Given the description of an element on the screen output the (x, y) to click on. 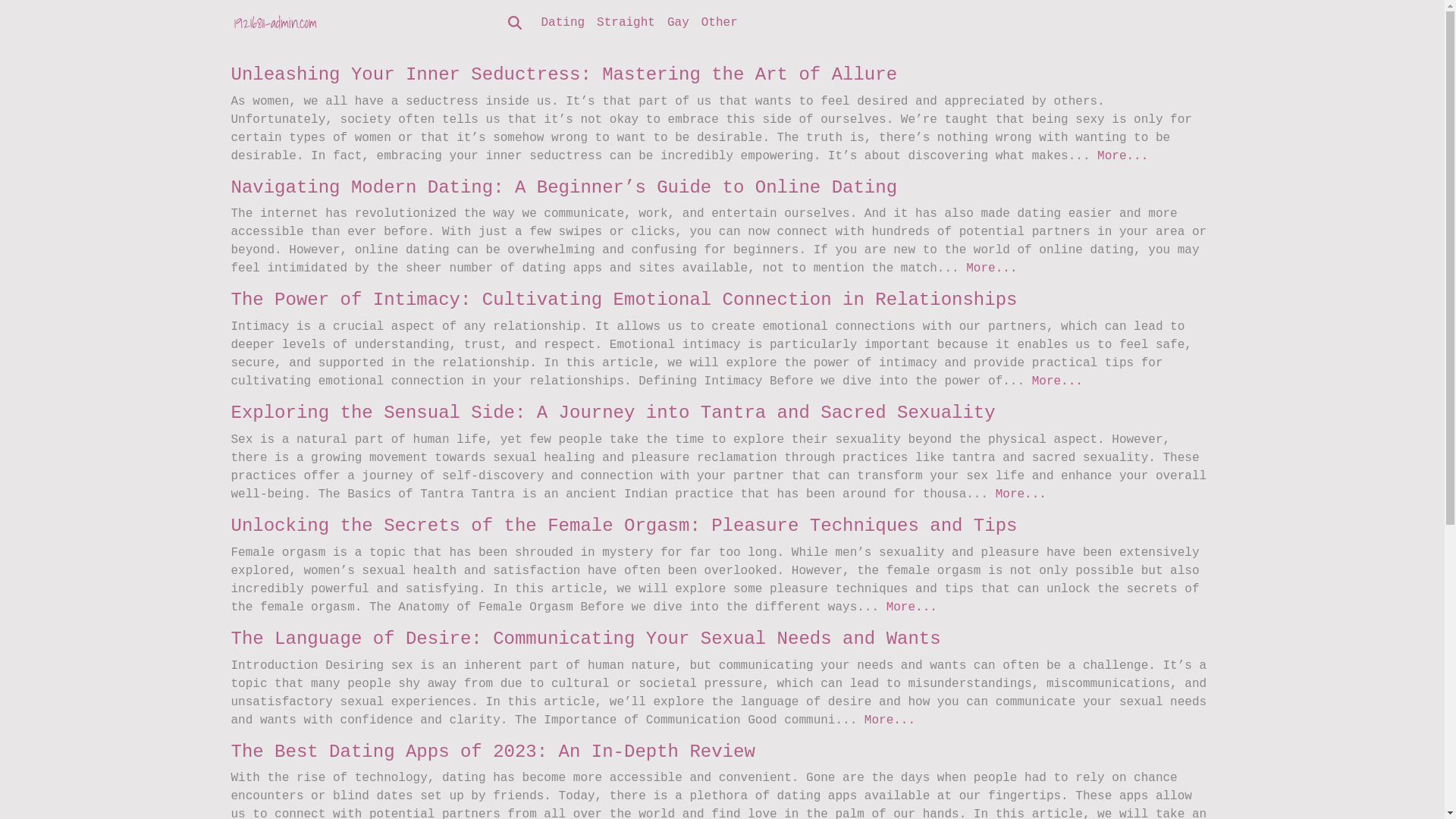
More... Element type: text (1020, 494)
More... Element type: text (1057, 381)
More... Element type: text (911, 607)
More... Element type: text (991, 268)
Straight Element type: text (625, 22)
19216811-admin.com Element type: text (274, 22)
Gay Element type: text (678, 22)
More... Element type: text (1122, 156)
Other Element type: text (719, 22)
More... Element type: text (889, 720)
The Best Dating Apps of 2023: An In-Depth Review Element type: text (492, 751)
Dating Element type: text (563, 22)
